Given the description of an element on the screen output the (x, y) to click on. 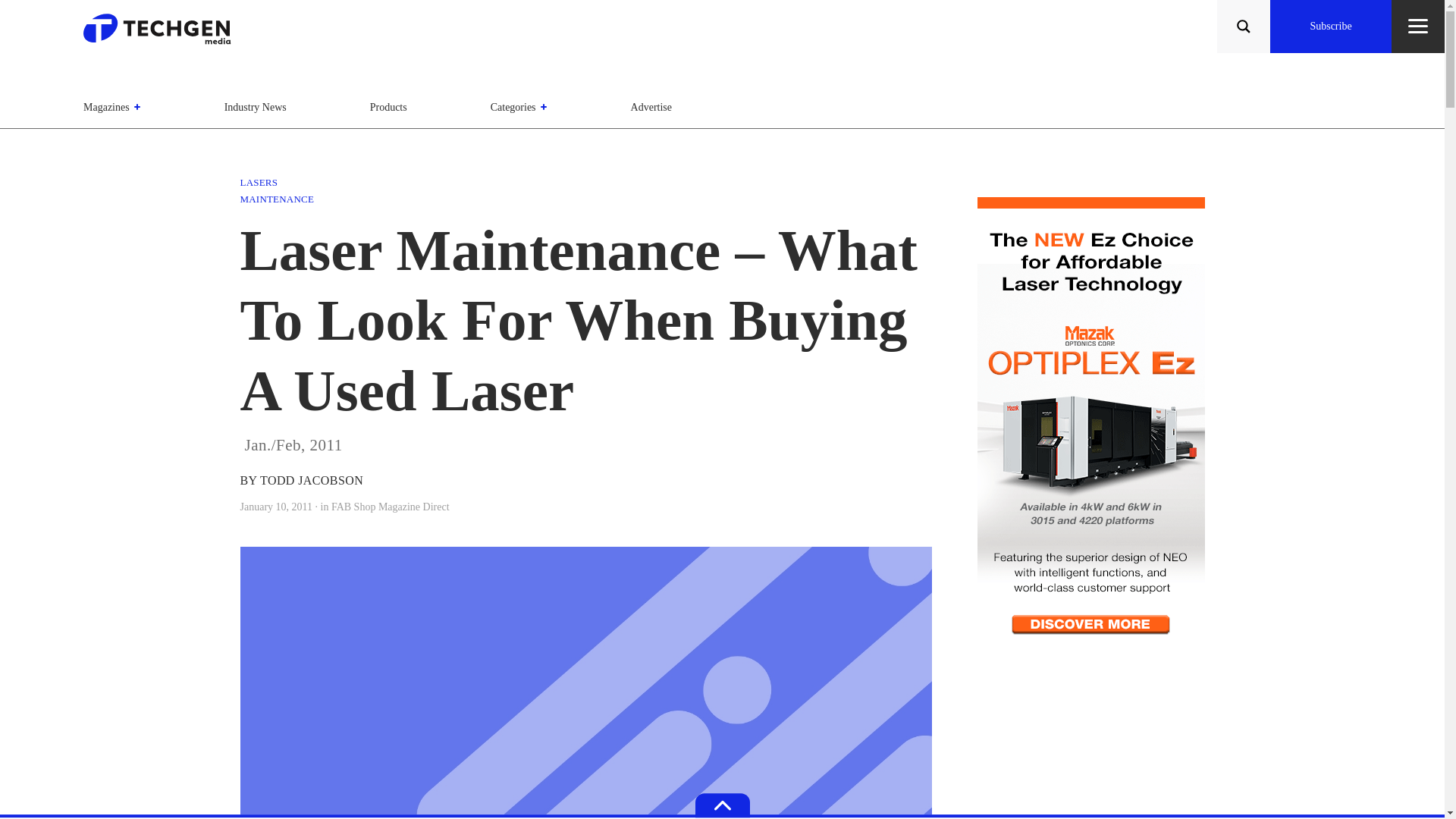
Categories (518, 107)
Industry News (255, 107)
Back to the homepage (162, 32)
Magazines (111, 107)
Subscribe (1330, 26)
Products (388, 107)
